Given the description of an element on the screen output the (x, y) to click on. 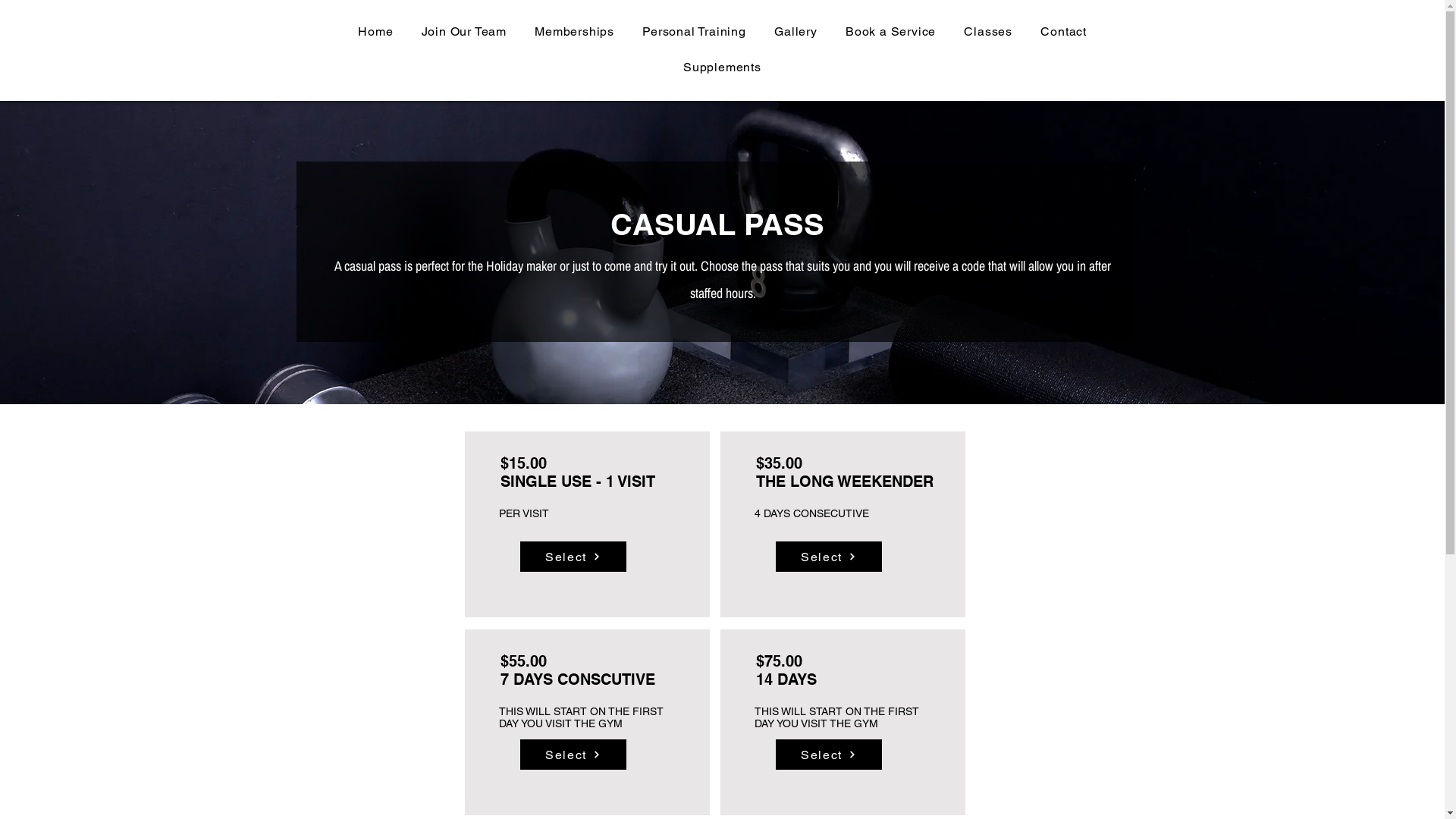
Gallery Element type: text (795, 31)
Join Our Team Element type: text (463, 31)
Select Element type: text (828, 556)
Home Element type: text (375, 31)
Classes Element type: text (988, 31)
Memberships Element type: text (574, 31)
Supplements Element type: text (722, 66)
Select Element type: text (828, 754)
Select Element type: text (573, 754)
Select Element type: text (573, 556)
Contact Element type: text (1063, 31)
Book a Service Element type: text (890, 31)
Personal Training Element type: text (694, 31)
